Given the description of an element on the screen output the (x, y) to click on. 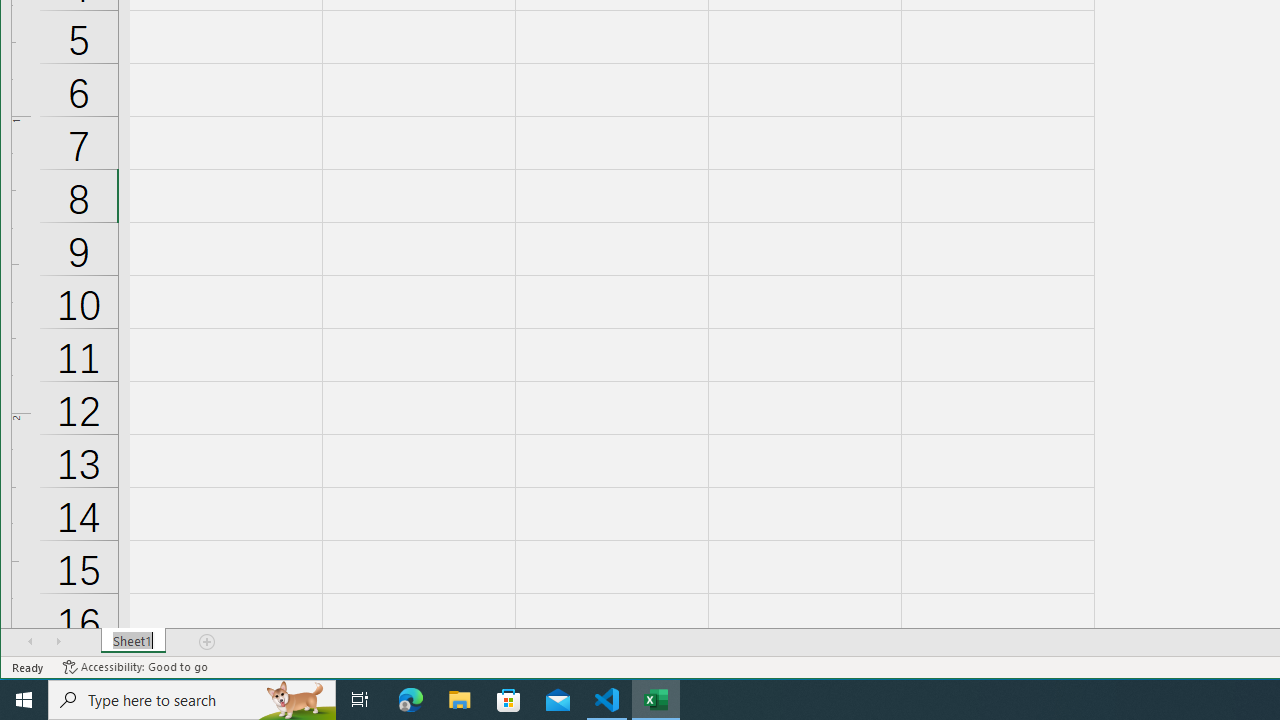
Sheet Tab (133, 641)
Excel - 1 running window (656, 699)
